Given the description of an element on the screen output the (x, y) to click on. 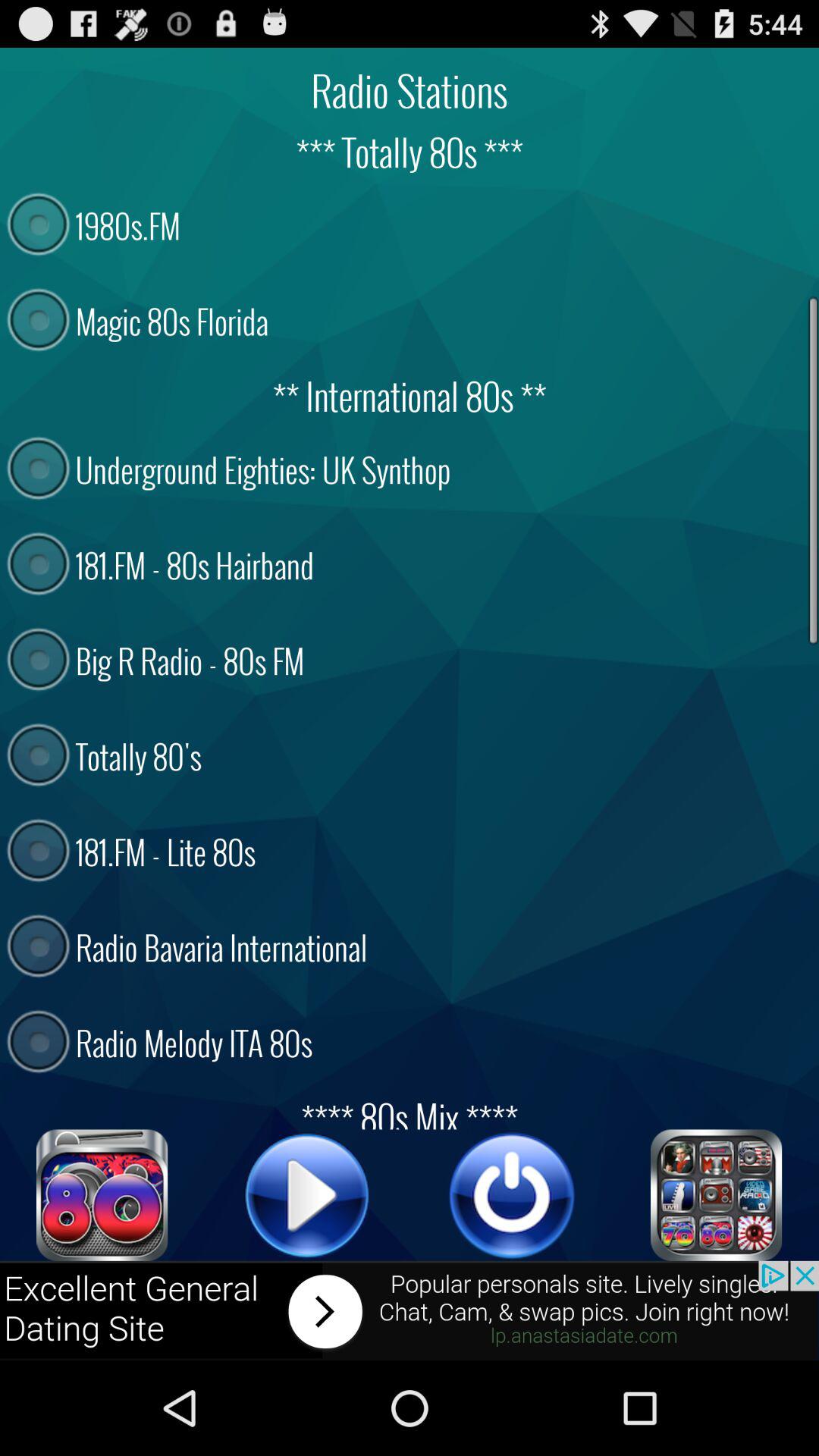
stop option (511, 1194)
